Given the description of an element on the screen output the (x, y) to click on. 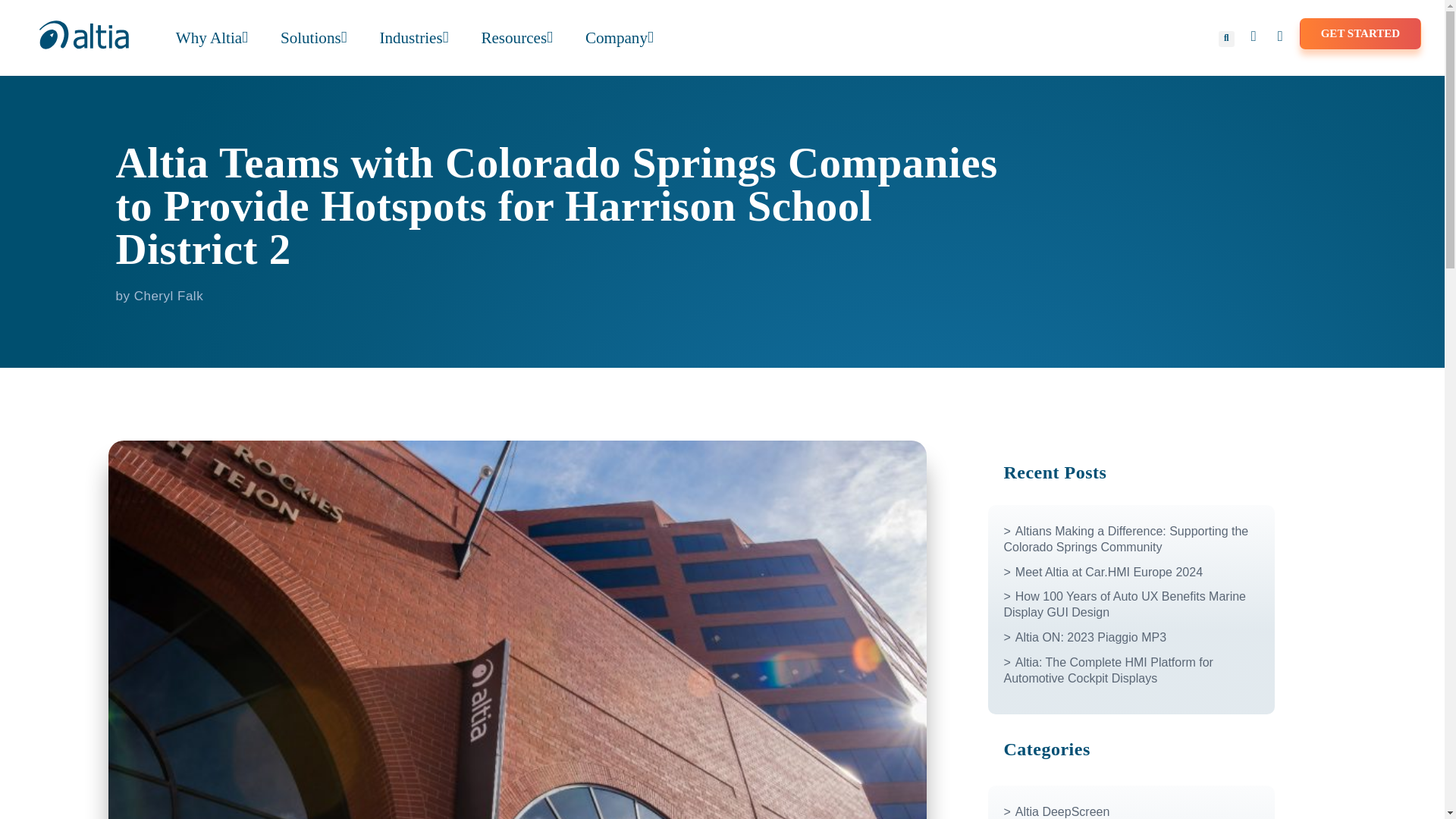
Why Altia (211, 37)
Solutions (314, 37)
Resources (515, 37)
Company (619, 37)
Industries (413, 37)
